Given the description of an element on the screen output the (x, y) to click on. 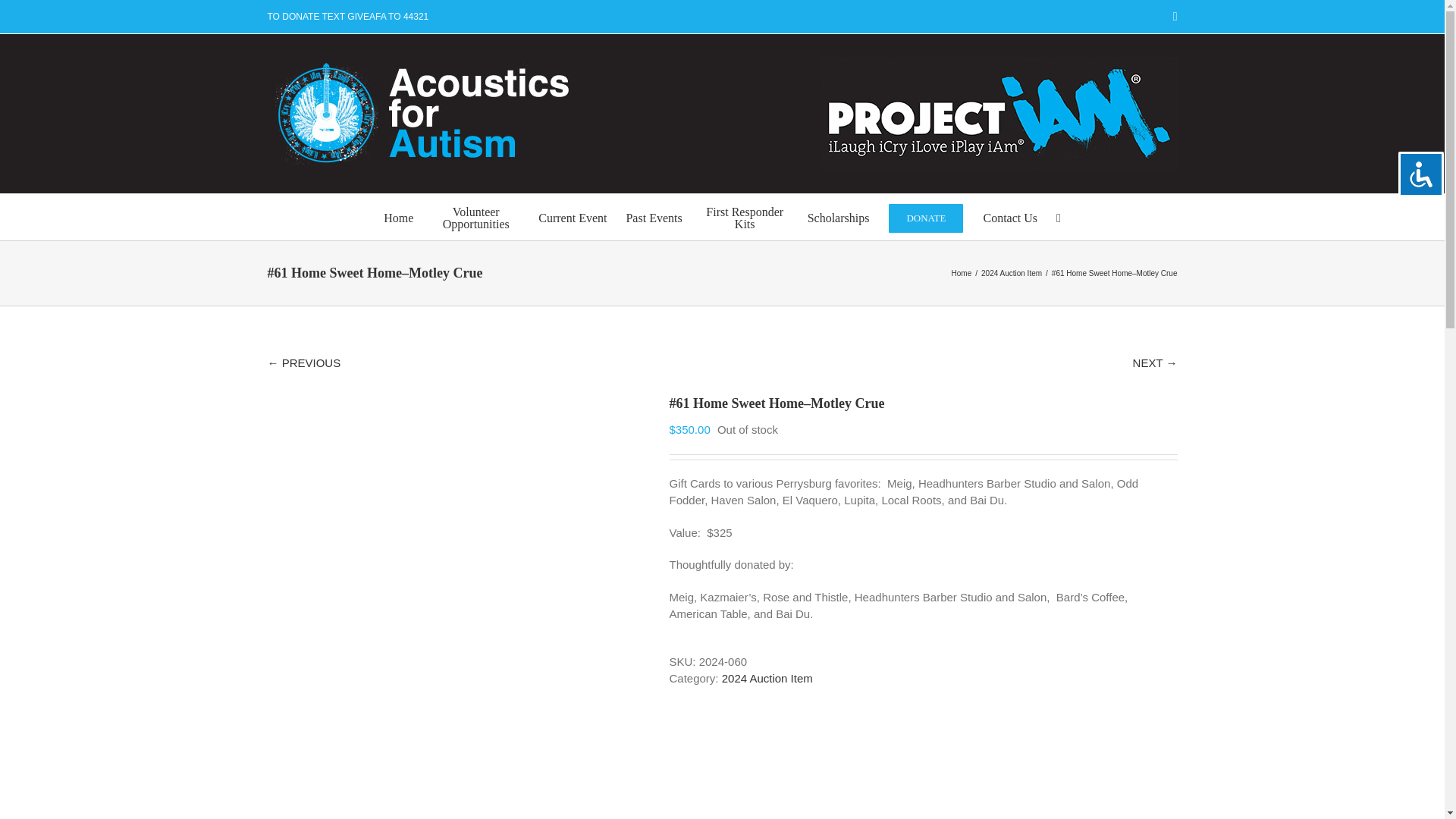
Facebook (1175, 16)
Home (398, 216)
Volunteer Opportunities (475, 216)
First Responder Kits (745, 216)
Past Events (653, 216)
DONATE (925, 216)
Facebook (1175, 16)
2024 Auction Item (767, 677)
Current Event (572, 216)
Scholarships (838, 216)
Home (962, 273)
TO DONATE TEXT GIVEAFA TO 44321 (347, 16)
2024 Auction Item (1011, 273)
Contact Us (1009, 216)
